Given the description of an element on the screen output the (x, y) to click on. 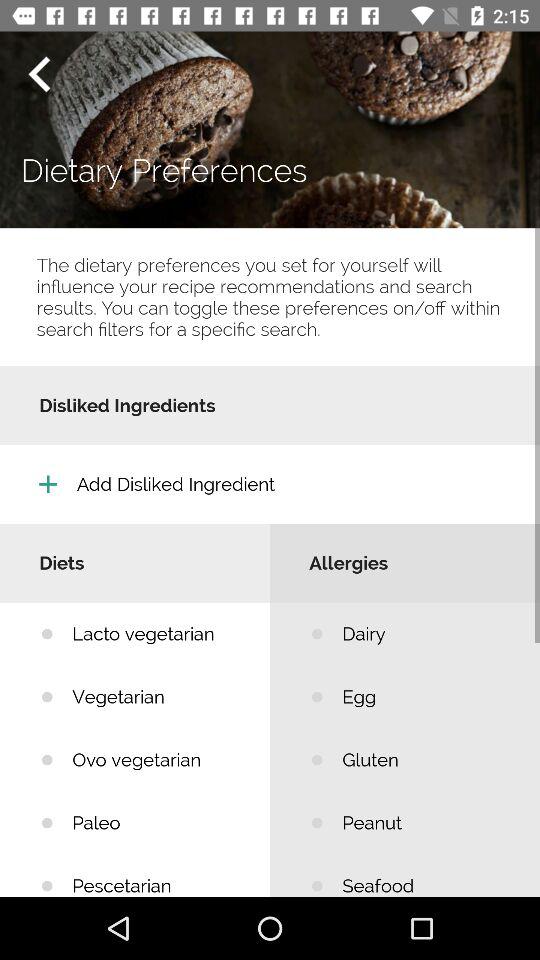
tap the seafood (426, 875)
